Given the description of an element on the screen output the (x, y) to click on. 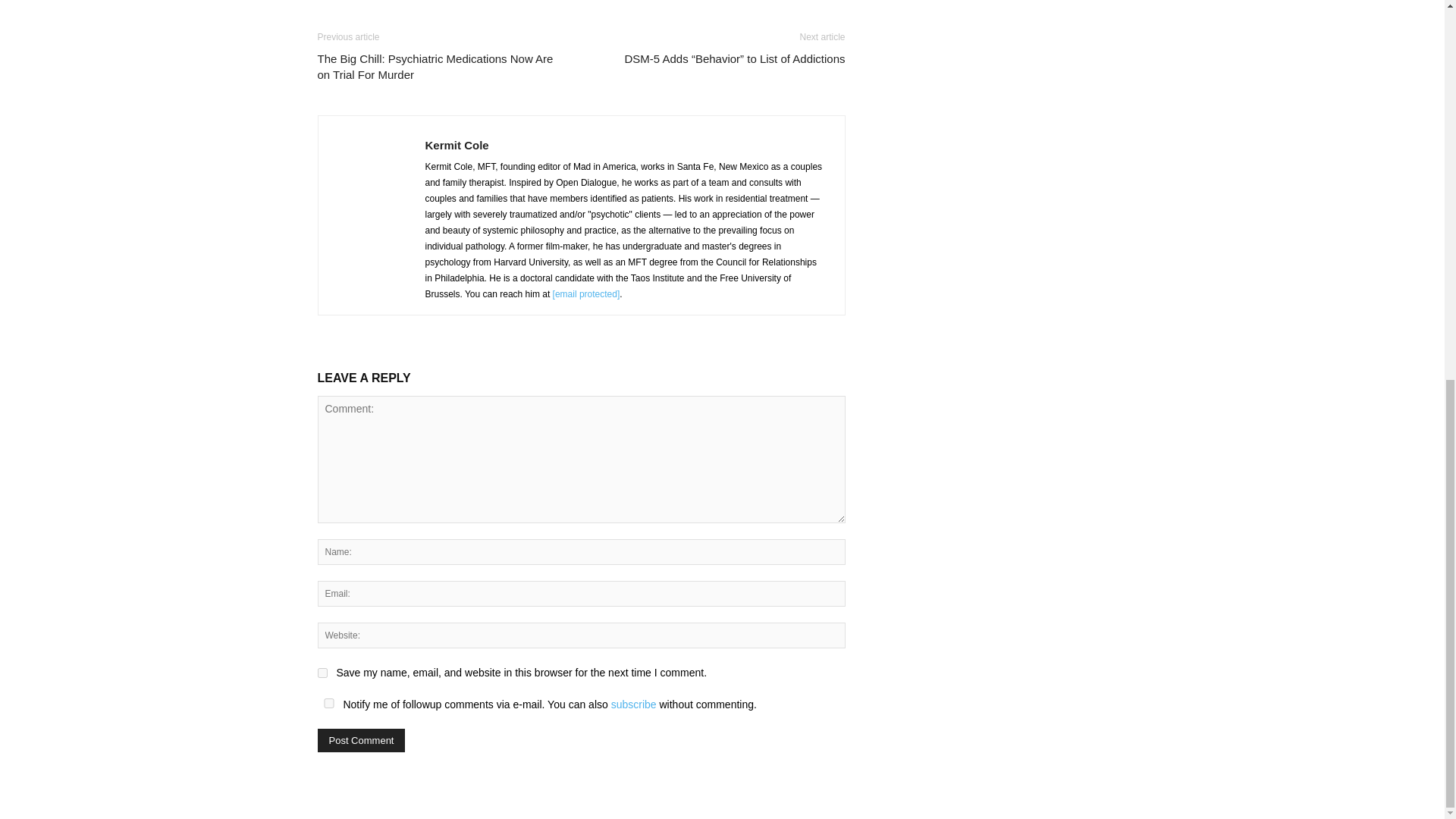
yes (328, 703)
yes (321, 673)
Post Comment (360, 740)
